Given the description of an element on the screen output the (x, y) to click on. 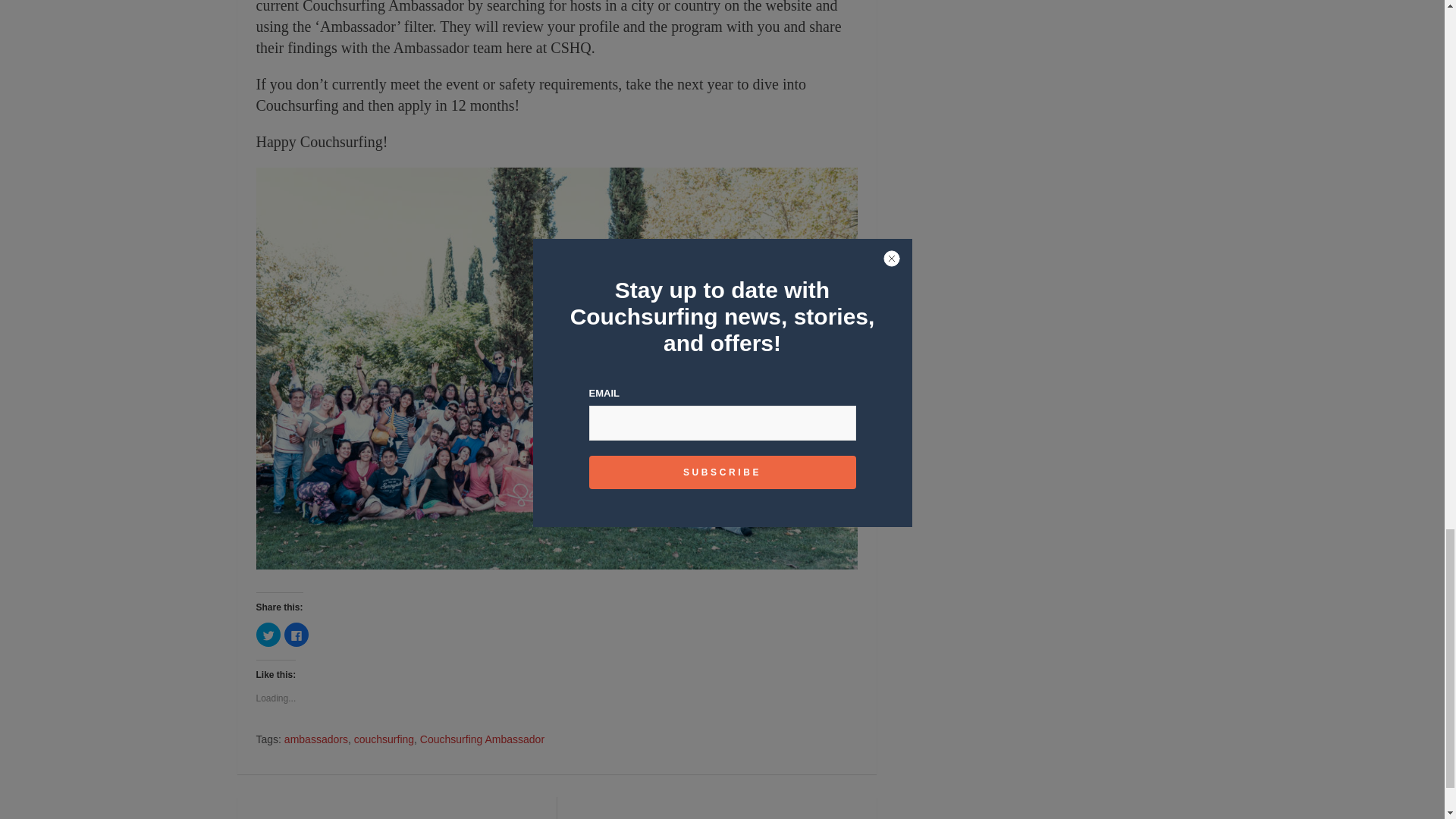
Click to share on Facebook (295, 634)
Surviving The Louages of Tunisia (395, 807)
Click to share on Twitter (268, 634)
couchsurfing (383, 739)
Couchsurfing Ambassador (482, 739)
ambassadors (315, 739)
